Given the description of an element on the screen output the (x, y) to click on. 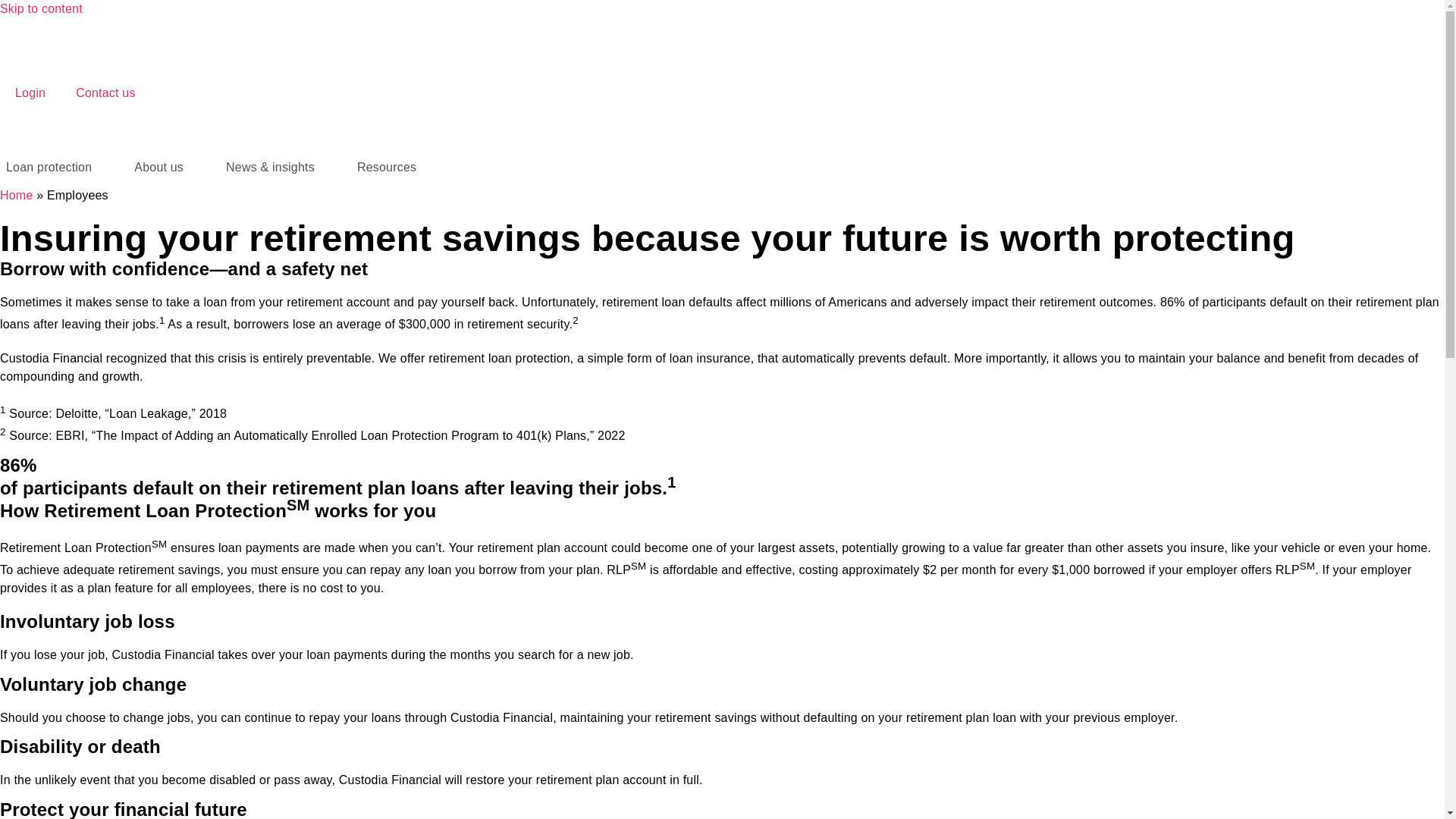
About us (158, 167)
About Us (158, 167)
Resources (386, 167)
Resources (386, 167)
Contact us (105, 93)
Skip to content (41, 8)
Loan protection (48, 167)
Login (30, 93)
Loan protection (48, 167)
